Given the description of an element on the screen output the (x, y) to click on. 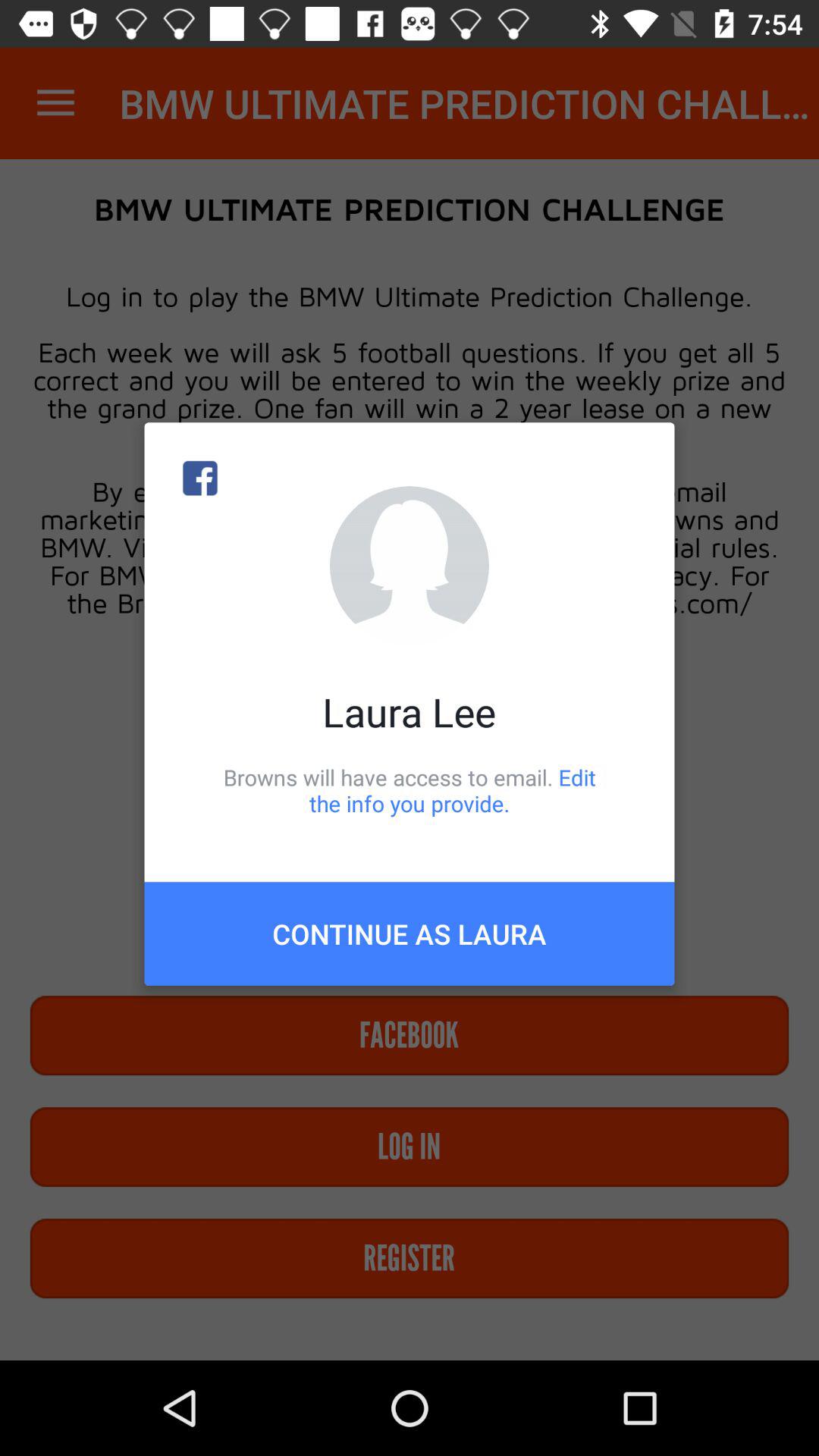
tap item below the laura lee item (409, 790)
